Given the description of an element on the screen output the (x, y) to click on. 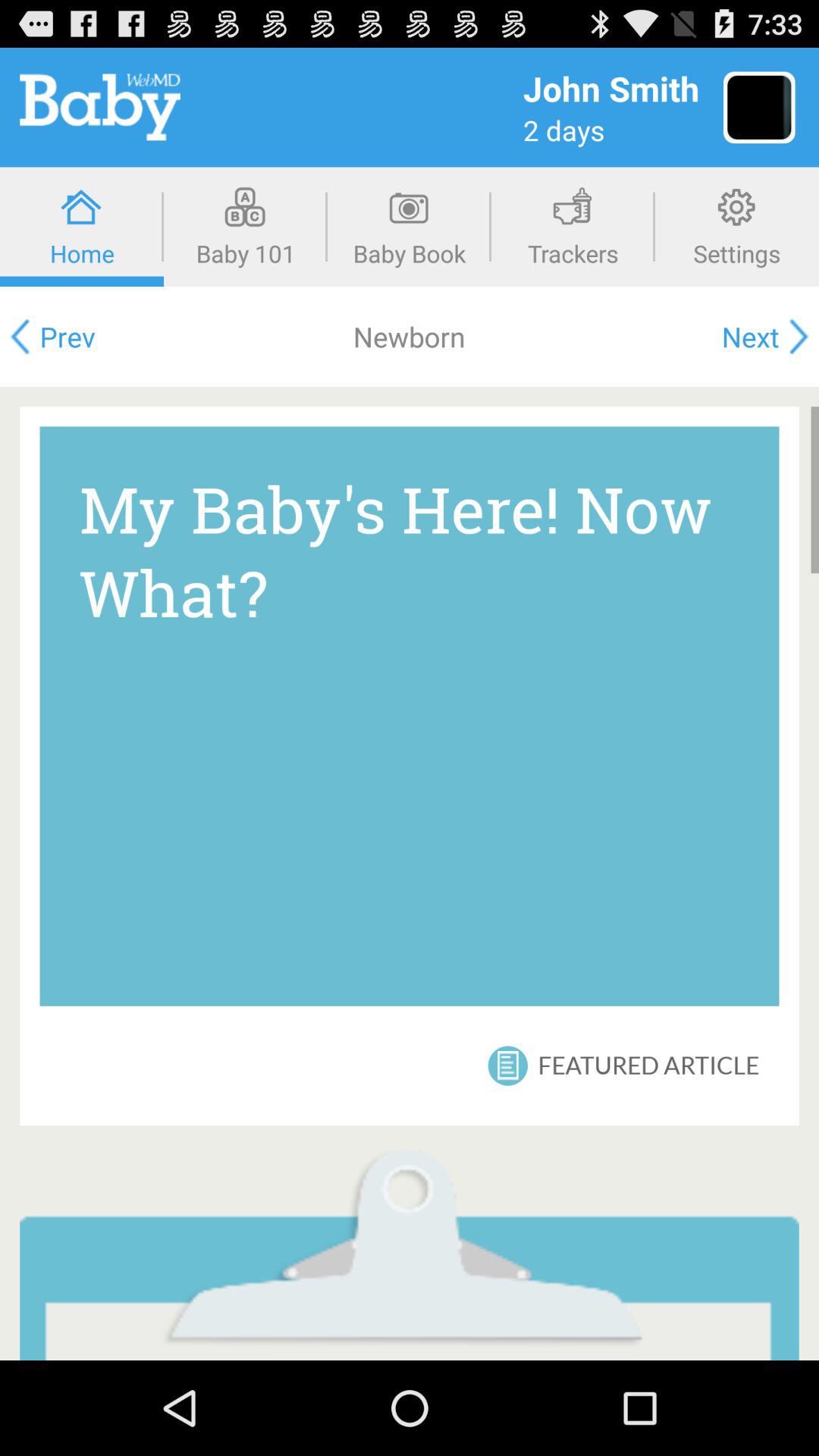
tap the item below my baby s (648, 1065)
